Given the description of an element on the screen output the (x, y) to click on. 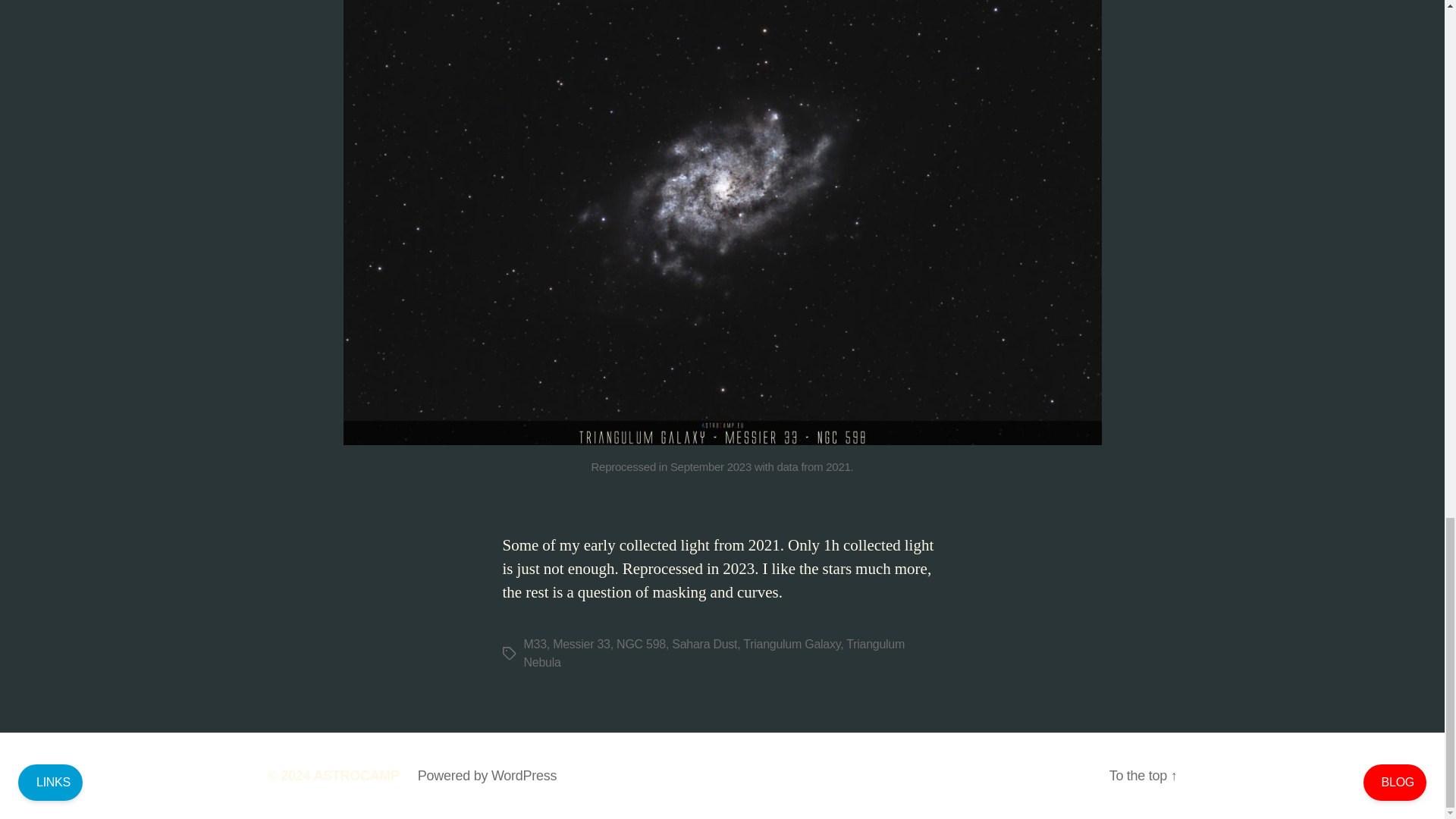
Sahara Dust (703, 644)
NGC 598 (640, 644)
ASTROCAMP (355, 775)
Triangulum Galaxy (791, 644)
Triangulum Nebula (713, 653)
M33 (534, 644)
Messier 33 (581, 644)
